Given the description of an element on the screen output the (x, y) to click on. 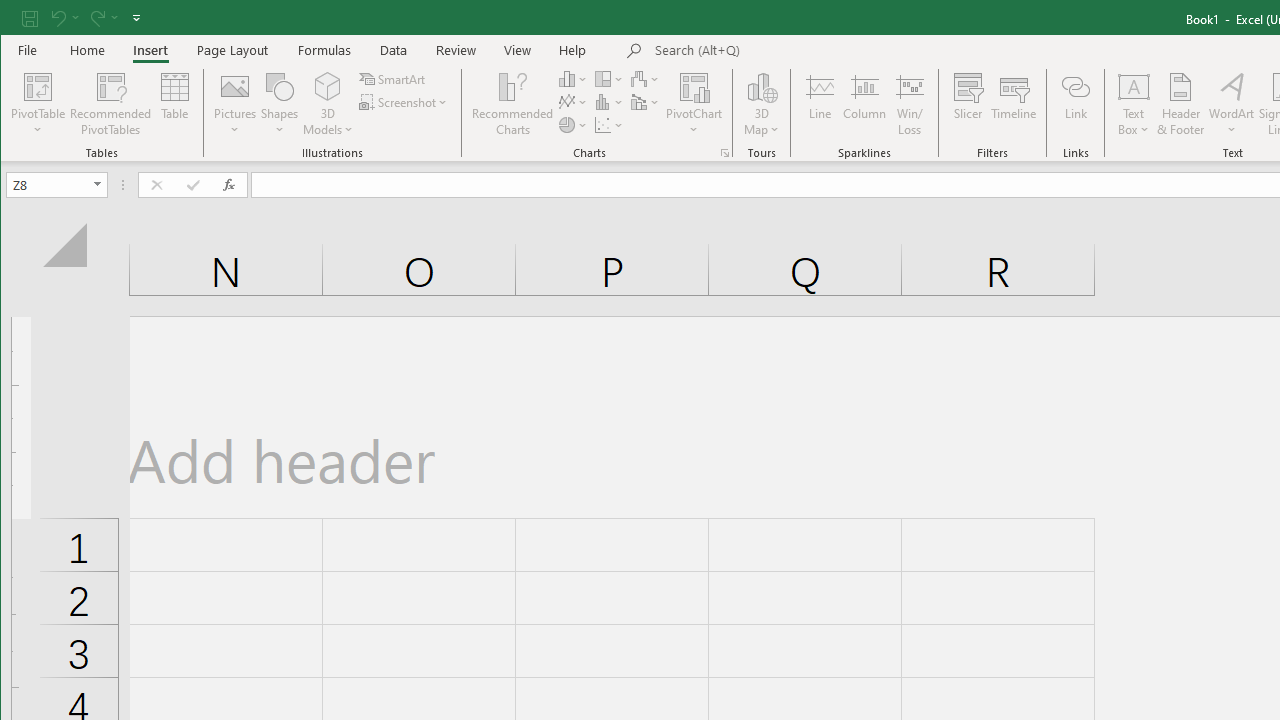
3D Map (762, 104)
Insert Waterfall, Funnel, Stock, Surface, or Radar Chart (646, 78)
Recommended Charts (724, 152)
Insert Combo Chart (646, 101)
Recommended PivotTables (110, 104)
PivotChart (694, 104)
